Given the description of an element on the screen output the (x, y) to click on. 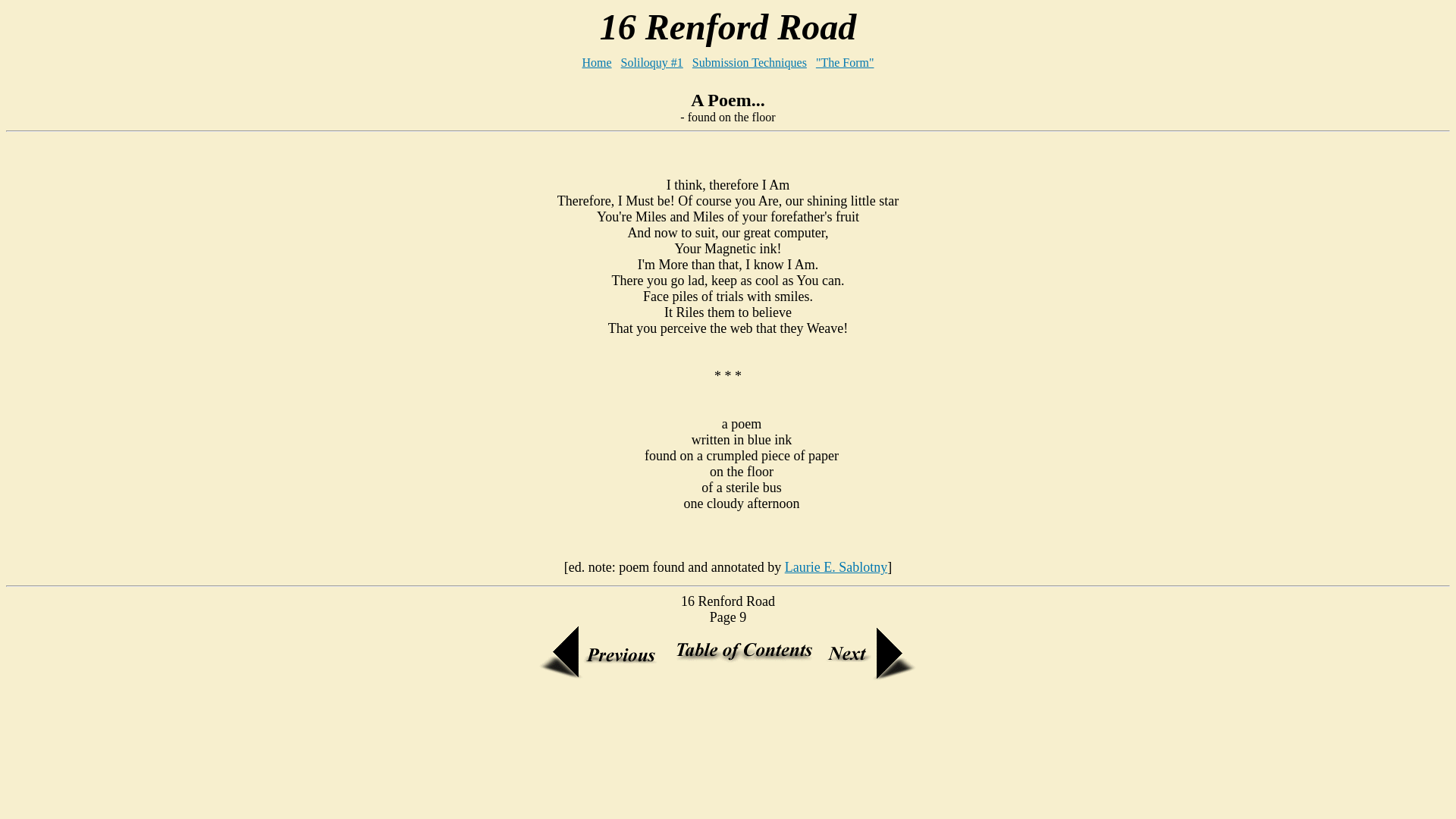
Advertisement Element type: hover (727, 706)
"The Form" Element type: text (844, 62)
Laurie E. Sablotny Element type: text (835, 566)
Home Element type: text (596, 62)
Submission Techniques Element type: text (749, 62)
Soliloquy #1 Element type: text (652, 62)
